Given the description of an element on the screen output the (x, y) to click on. 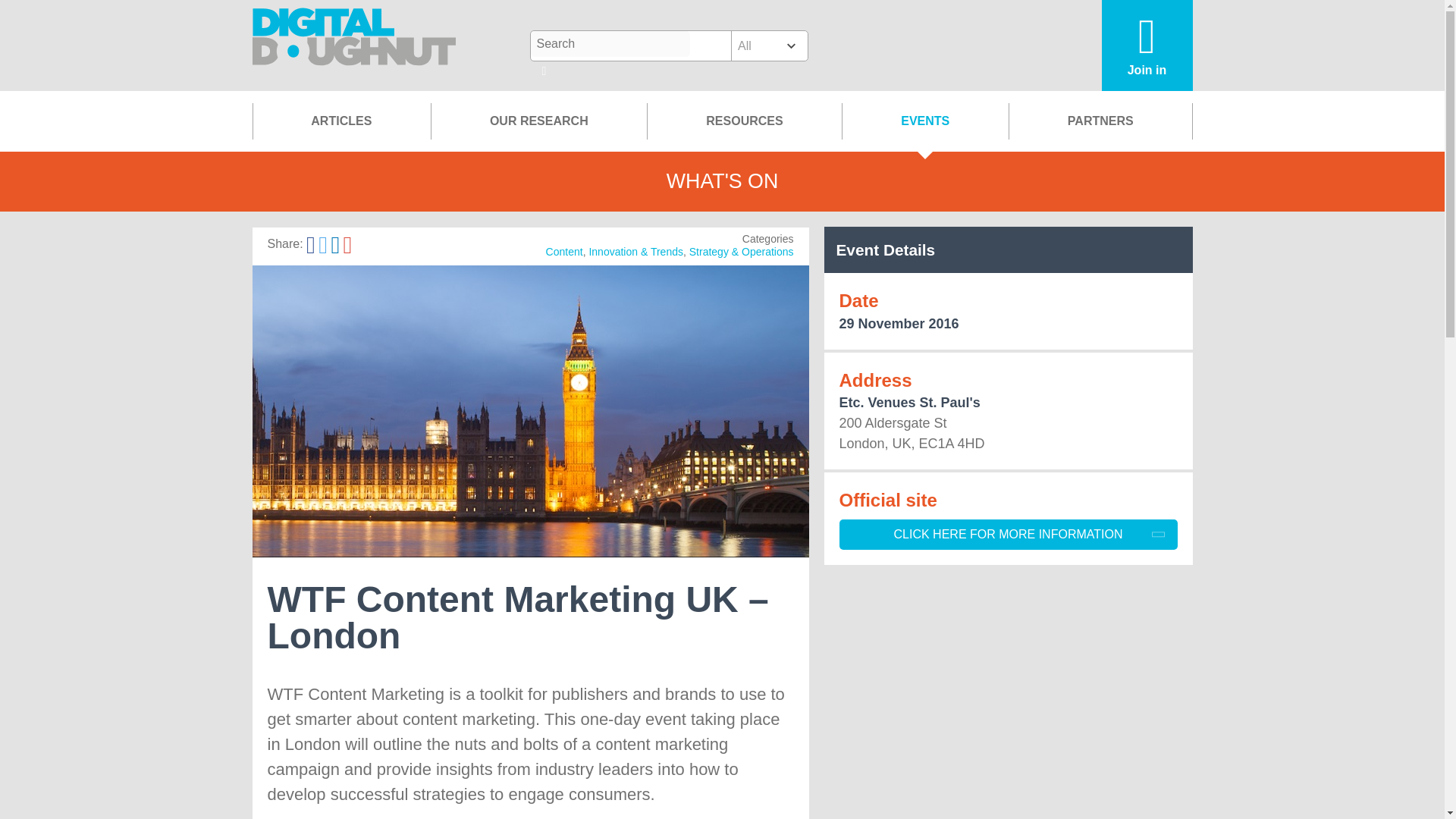
CLICK HERE FOR MORE INFORMATION (1007, 534)
Search (610, 43)
Digital Doughnut (354, 45)
Click to view related articles (635, 251)
Join in (1146, 45)
EVENTS (925, 120)
Content (564, 251)
ARTICLES (340, 120)
Click to view related articles (740, 251)
Go (544, 71)
